Given the description of an element on the screen output the (x, y) to click on. 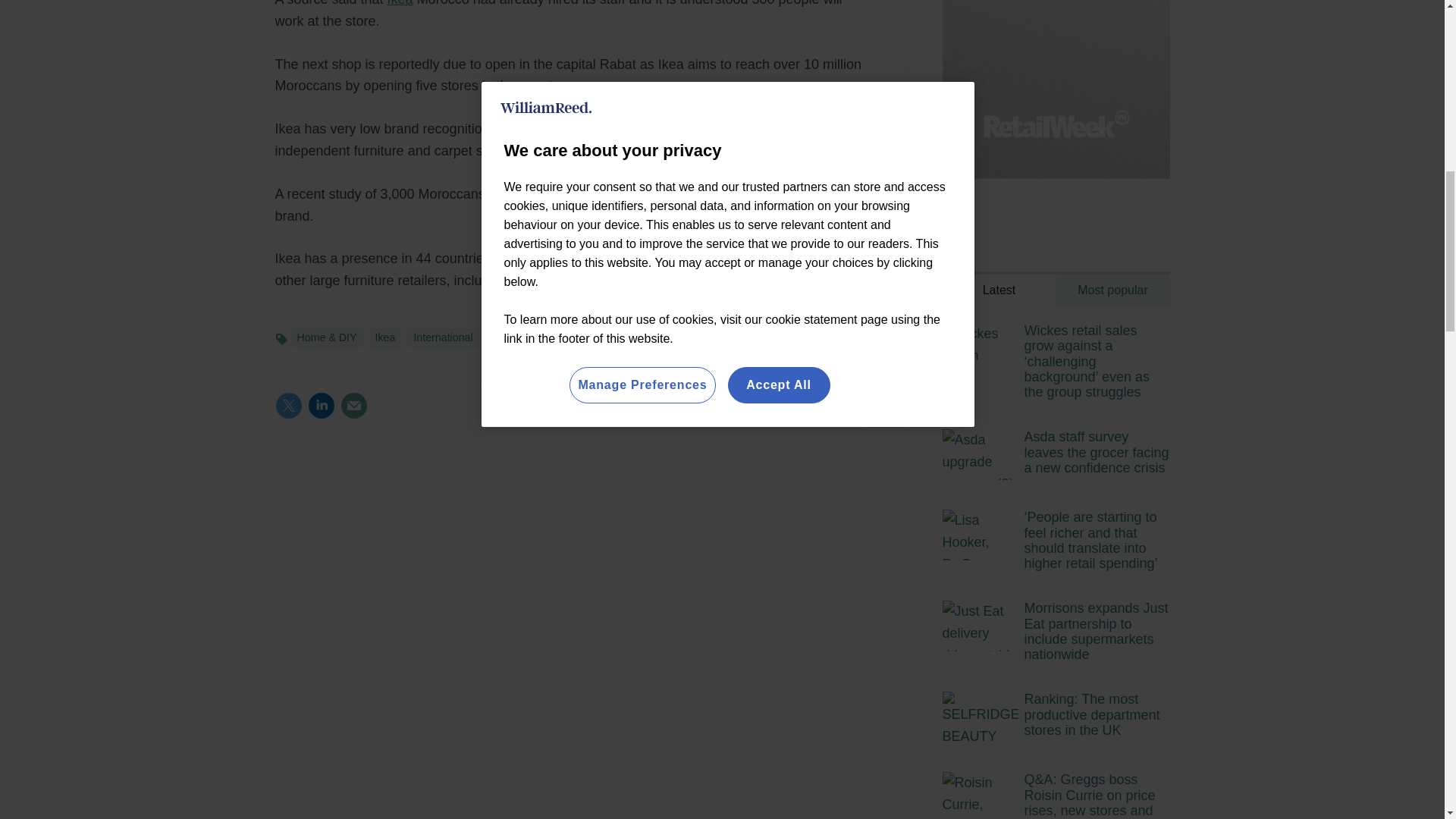
No comments (812, 414)
Email this article (352, 405)
Share this on Linked in (320, 405)
Share this on Twitter (288, 405)
